Given the description of an element on the screen output the (x, y) to click on. 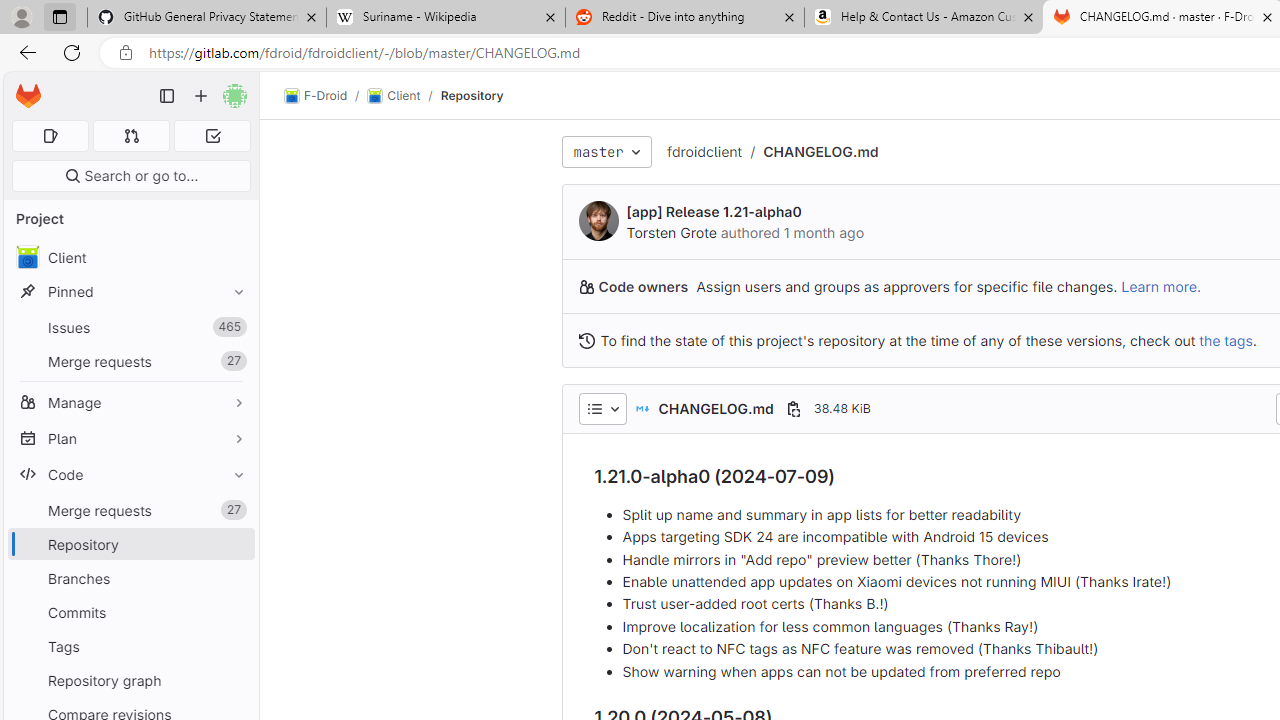
Suriname - Wikipedia (445, 17)
Torsten Grote's avatar (598, 220)
Plan (130, 438)
[app] Release 1.21-alpha0 (713, 211)
Unpin Issues (234, 327)
Repository (472, 95)
Commits (130, 612)
AutomationID: dropdown-toggle-btn-50 (602, 408)
F-Droid/ (326, 96)
